Given the description of an element on the screen output the (x, y) to click on. 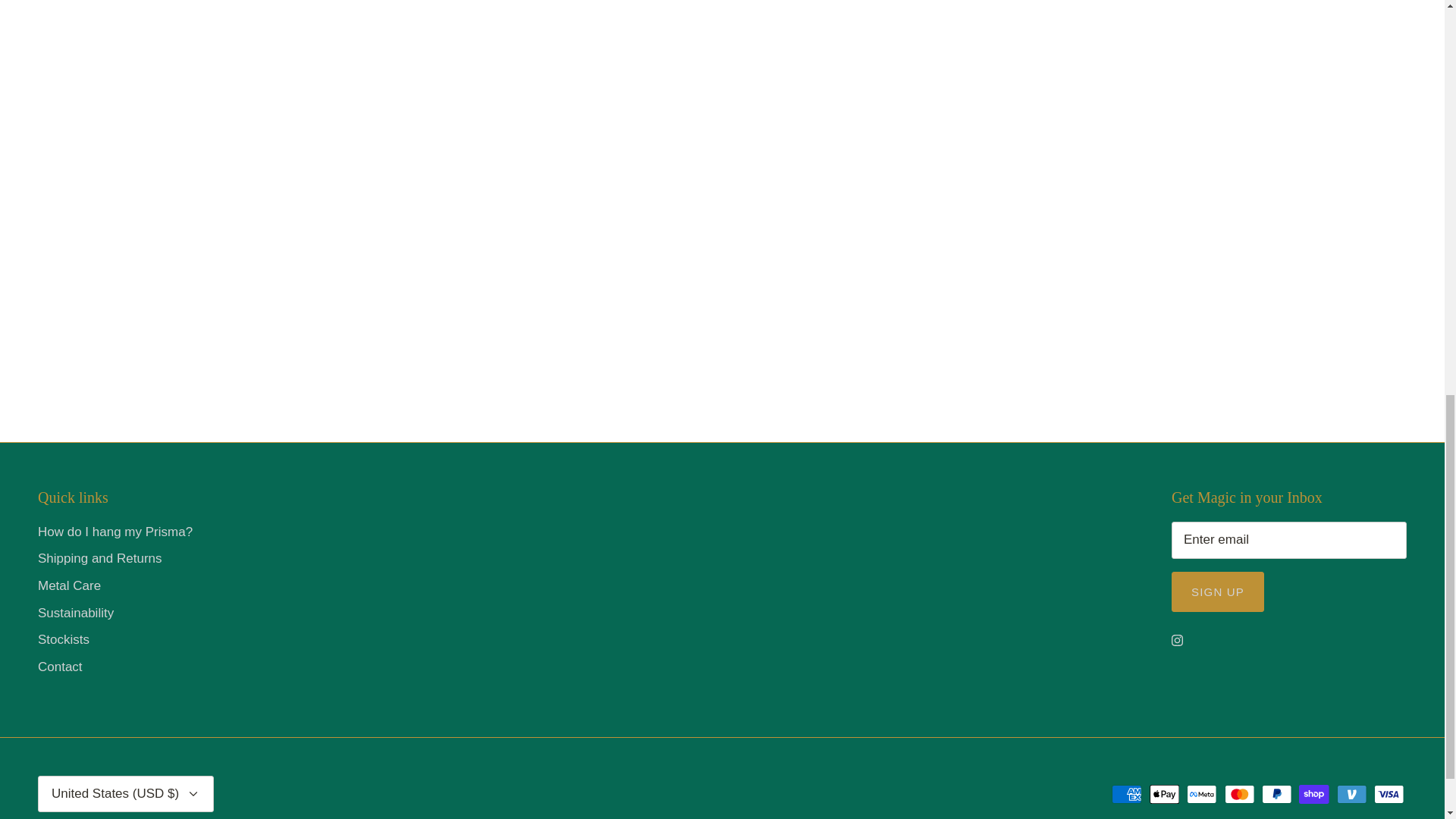
American Express (1126, 793)
Venmo (1351, 793)
Instagram (1177, 640)
PayPal (1276, 793)
Down (193, 793)
Shop Pay (1313, 793)
Meta Pay (1201, 793)
Apple Pay (1164, 793)
Visa (1388, 793)
Mastercard (1239, 793)
